Given the description of an element on the screen output the (x, y) to click on. 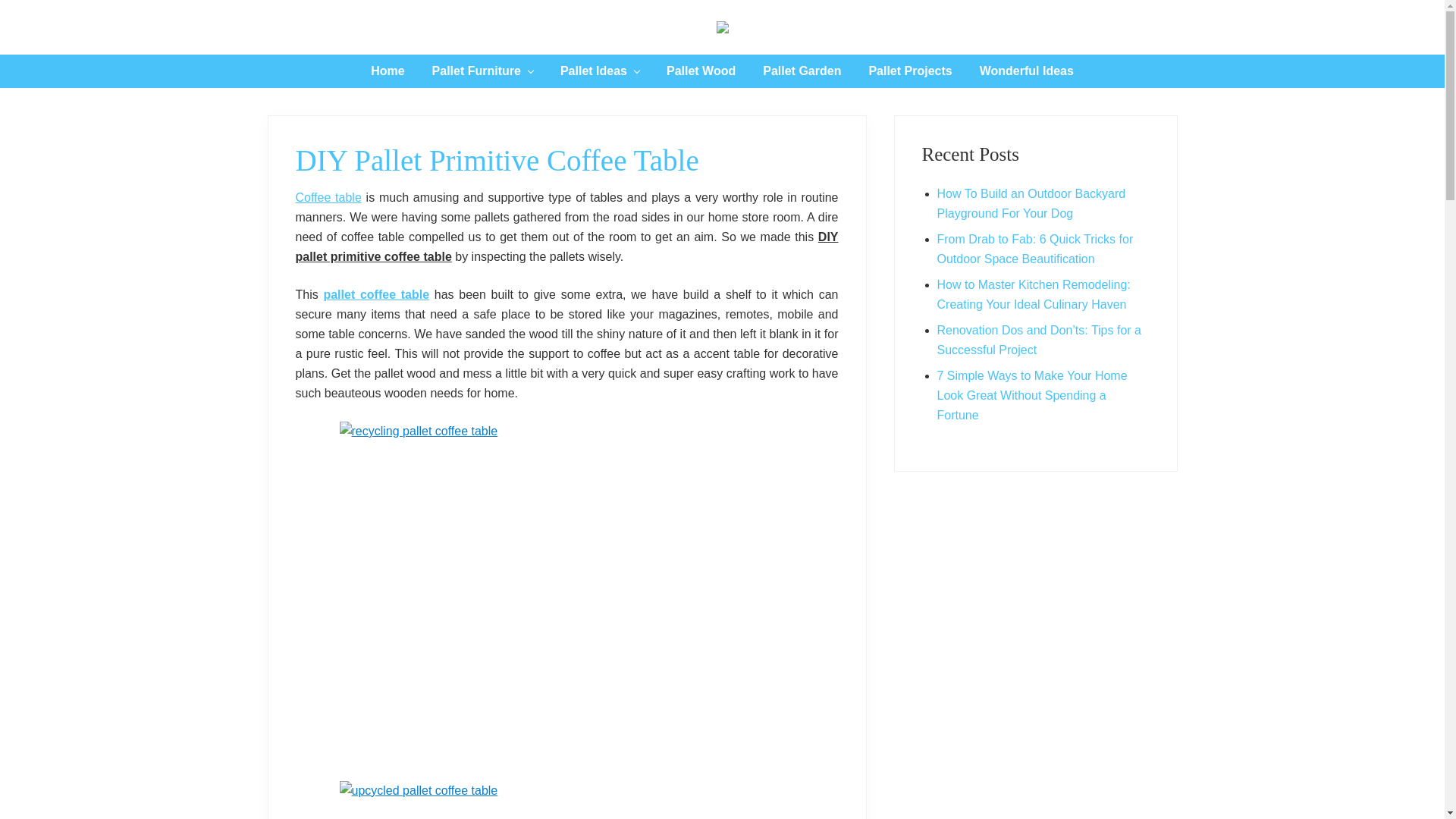
pallet coffee table Element type: text (376, 294)
Wonderful Ideas Element type: text (1026, 70)
Pallet Projects Element type: text (909, 70)
Home Element type: text (387, 70)
Coffee table Element type: text (328, 197)
Skip to primary navigation Element type: text (0, 0)
How To Build an Outdoor Backyard Playground For Your Dog Element type: text (1031, 203)
Pallet Garden Element type: text (801, 70)
Pallet Furniture Element type: text (482, 70)
Pallet Ideas Element type: text (599, 70)
Pallet Wood Element type: text (700, 70)
